Given the description of an element on the screen output the (x, y) to click on. 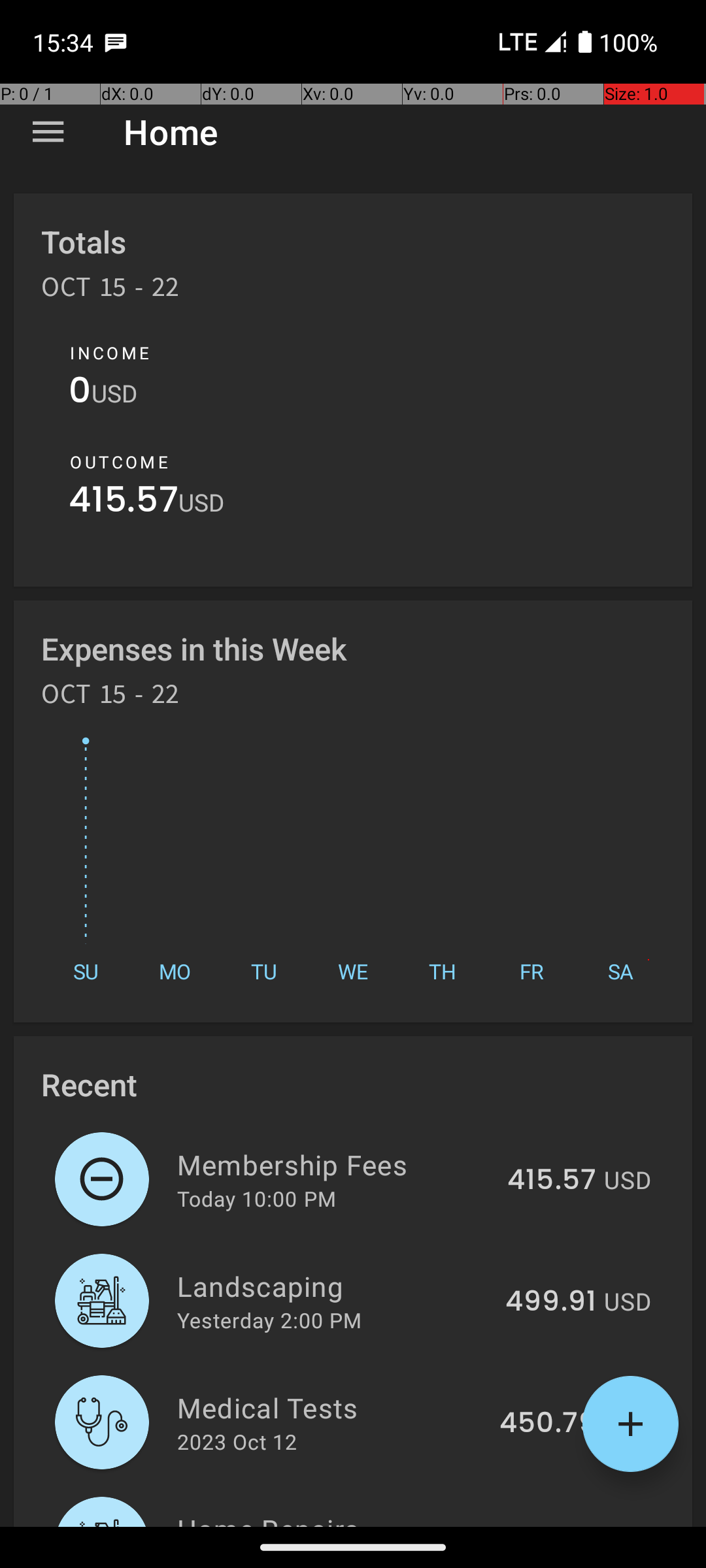
415.57 Element type: android.widget.TextView (123, 502)
Today 10:00 PM Element type: android.widget.TextView (256, 1198)
Landscaping Element type: android.widget.TextView (333, 1285)
Yesterday 2:00 PM Element type: android.widget.TextView (269, 1320)
499.91 Element type: android.widget.TextView (550, 1301)
Medical Tests Element type: android.widget.TextView (330, 1407)
450.79 Element type: android.widget.TextView (547, 1423)
Home Repairs Element type: android.widget.TextView (332, 1518)
268.73 Element type: android.widget.TextView (549, 1524)
